Given the description of an element on the screen output the (x, y) to click on. 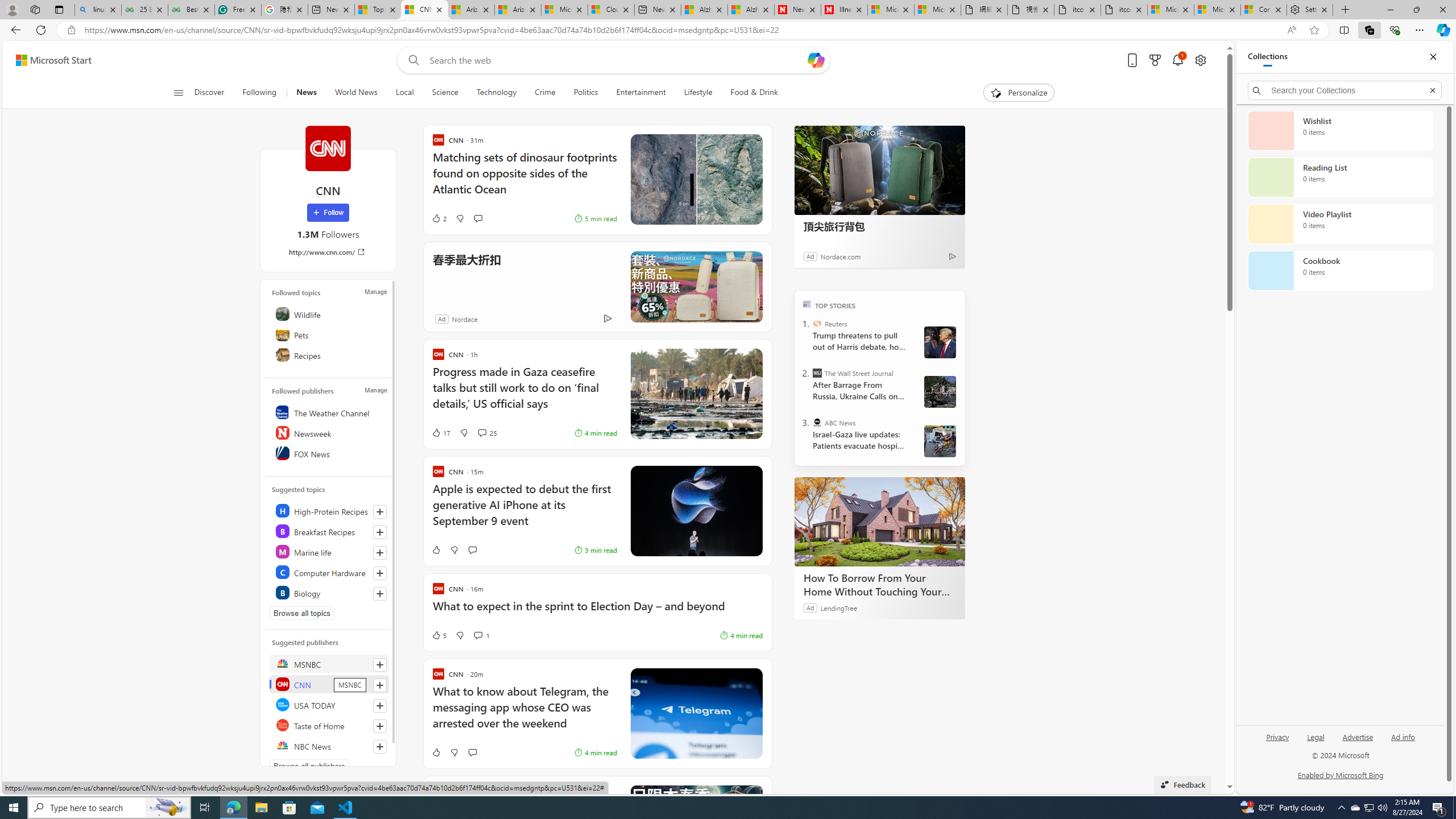
Follow (328, 212)
Newsweek (328, 432)
Browse all publishers (309, 766)
Best SSL Certificates Provider in India - GeeksforGeeks (191, 9)
Class: highlight (328, 592)
5 Like (438, 635)
